Given the description of an element on the screen output the (x, y) to click on. 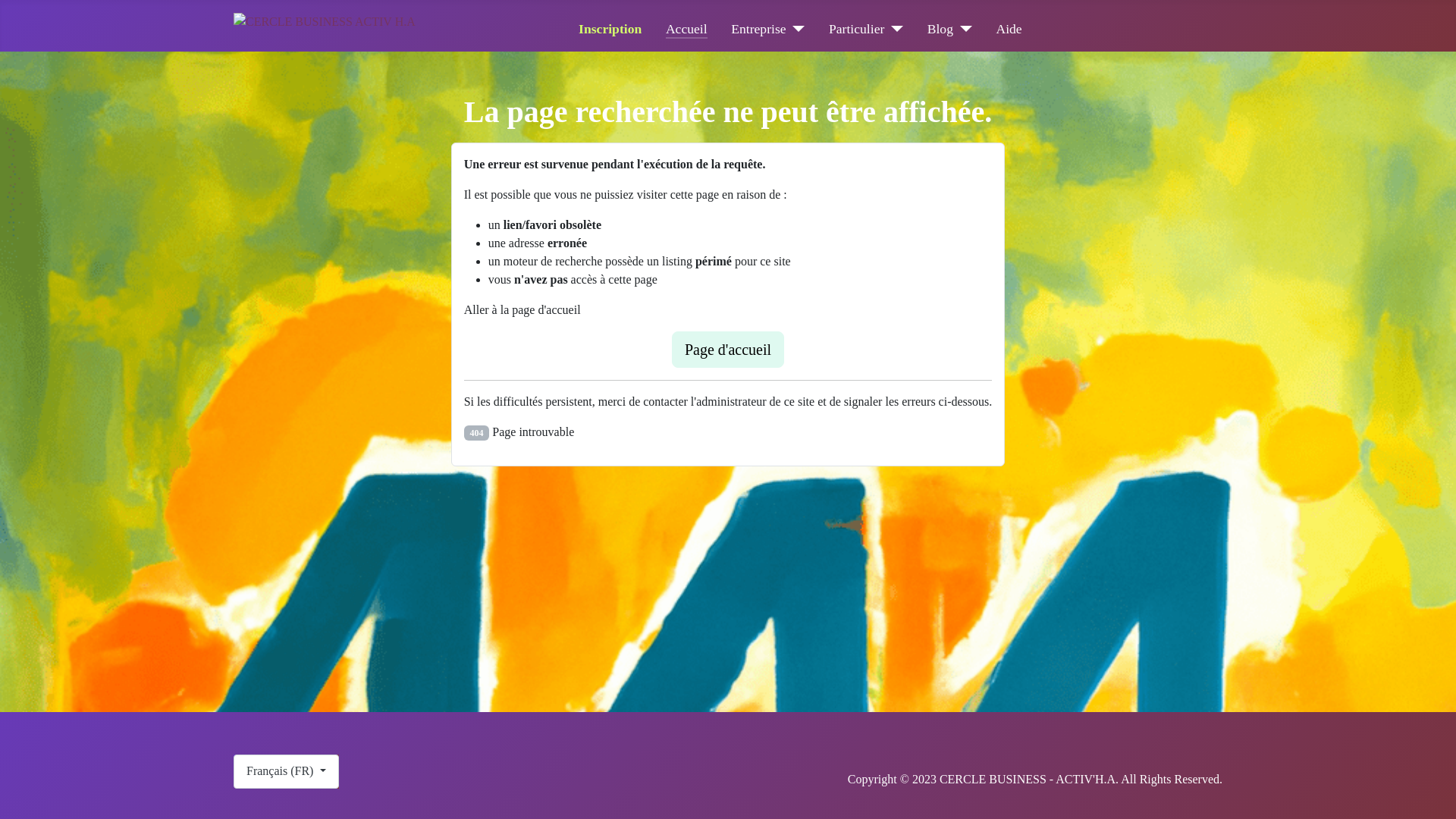
Page d'accueil Element type: text (727, 349)
Entreprise Element type: text (767, 28)
Accueil Element type: text (686, 28)
Aide Element type: text (1008, 28)
Particulier Element type: text (865, 28)
Blog Element type: text (949, 28)
Inscription Element type: text (609, 28)
